Given the description of an element on the screen output the (x, y) to click on. 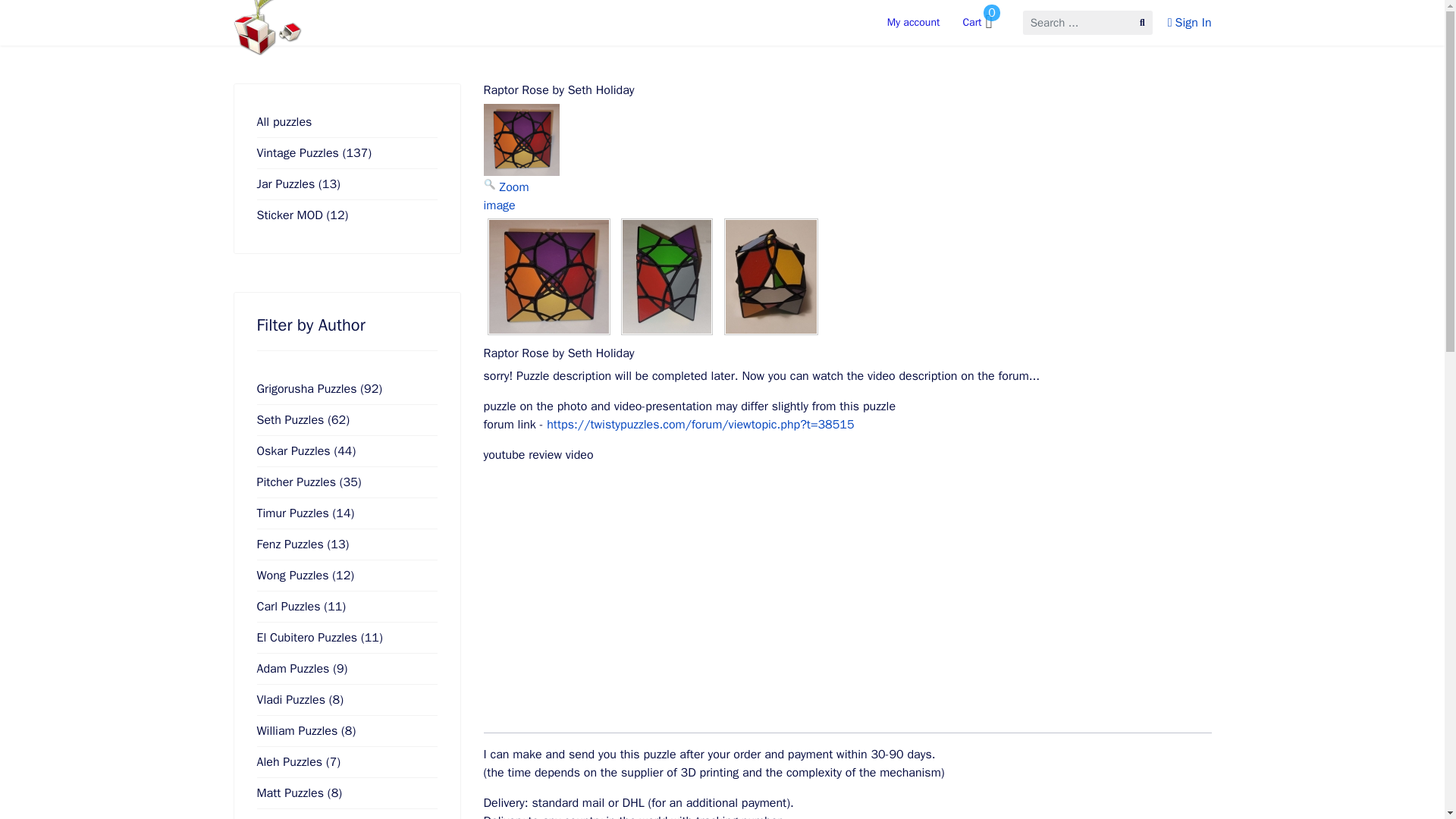
Sign In (1189, 22)
Raptor Rose by Seth Holiday (521, 140)
All puzzles (346, 122)
YouTube video player (695, 594)
Raptor Rose by Seth Holiday (548, 276)
My account (914, 18)
